Given the description of an element on the screen output the (x, y) to click on. 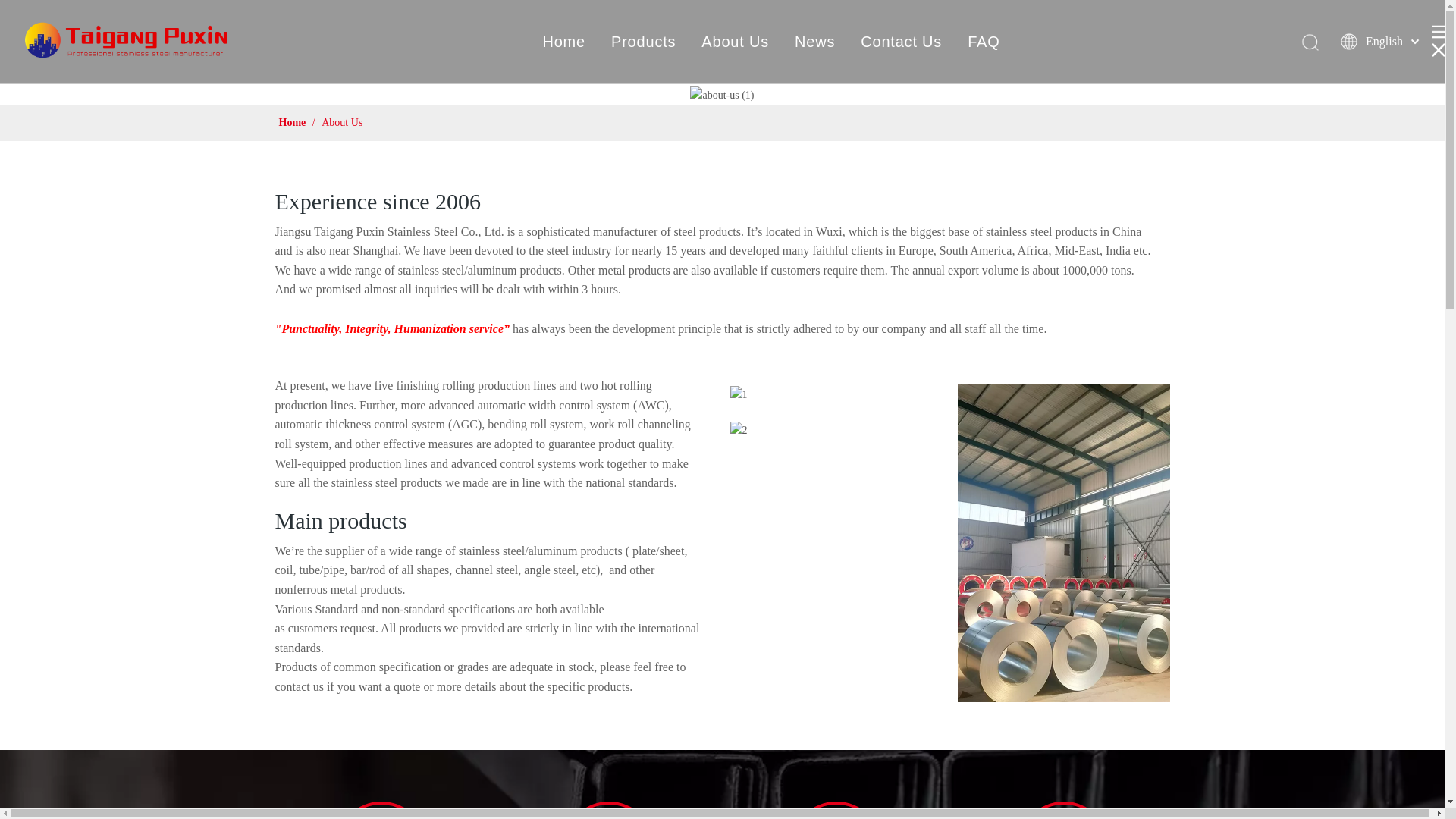
Contact Us (901, 41)
About Us (734, 41)
Products (643, 41)
FAQ (983, 41)
Home (293, 122)
Home (563, 41)
News (814, 41)
